Given the description of an element on the screen output the (x, y) to click on. 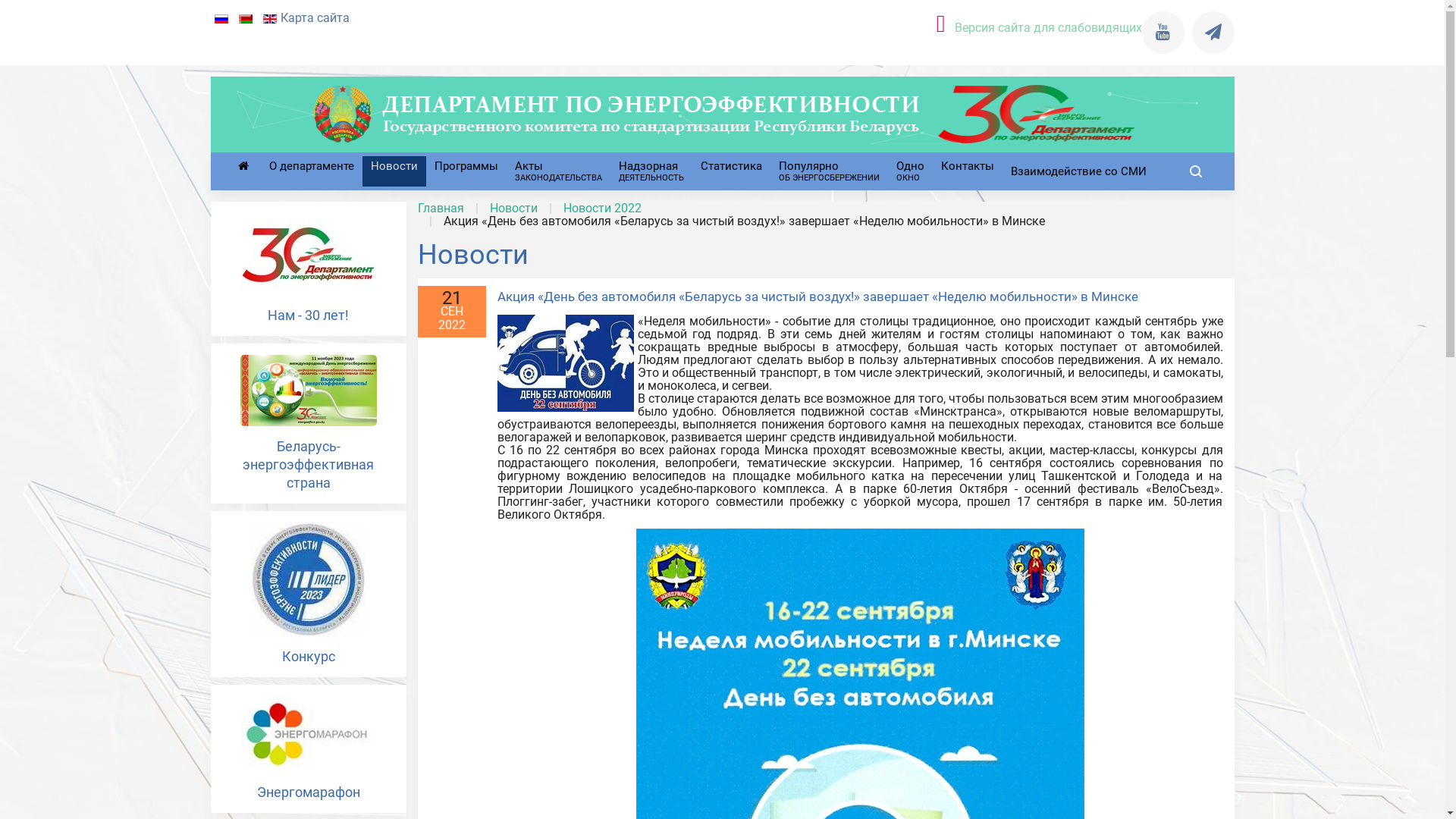
English (UK) Element type: hover (269, 18)
